Given the description of an element on the screen output the (x, y) to click on. 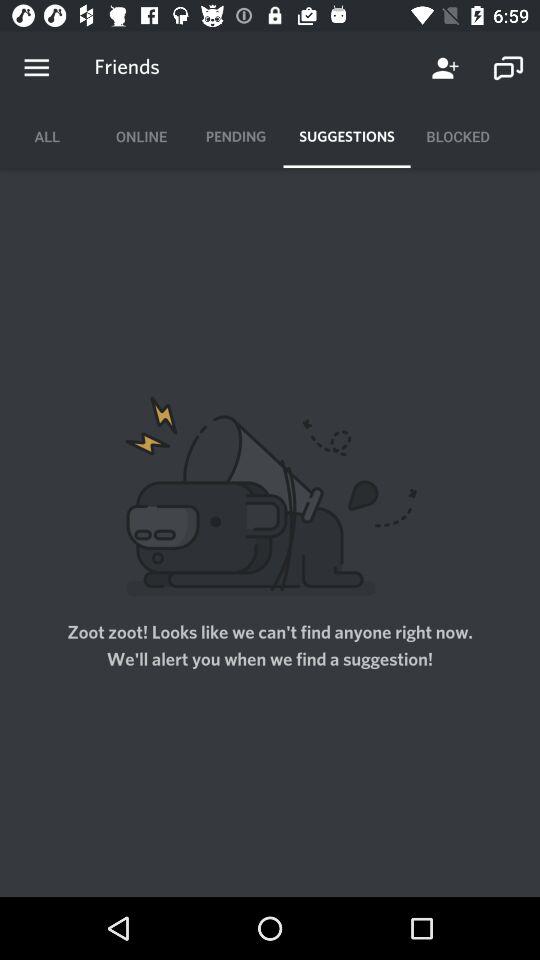
launch the item next to the friends item (444, 67)
